Given the description of an element on the screen output the (x, y) to click on. 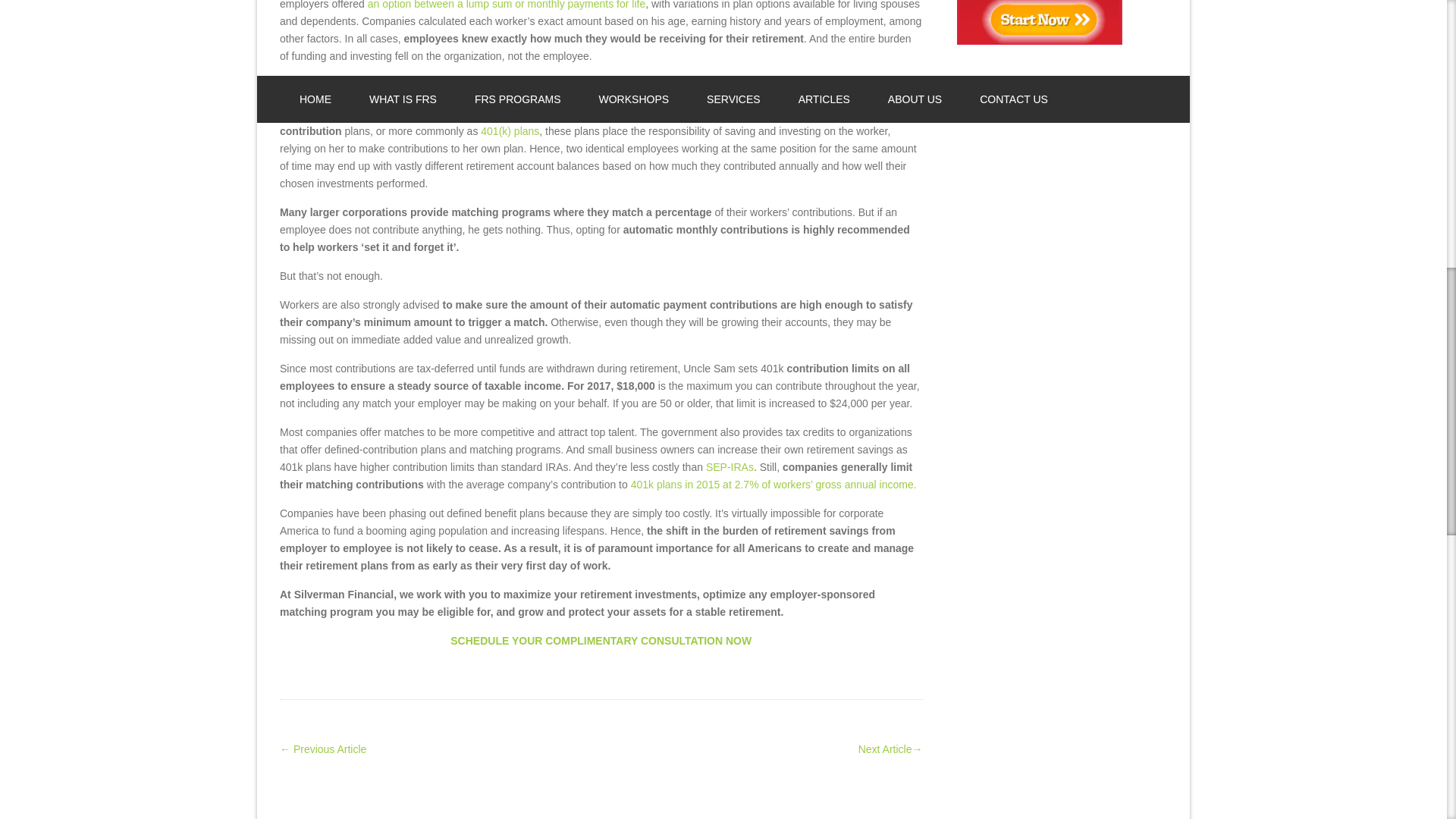
SCHEDULE YOUR COMPLIMENTARY CONSULTATION NOW (600, 640)
an option between a lump sum or monthly payments for life (507, 4)
SEP-IRAs (730, 467)
